Given the description of an element on the screen output the (x, y) to click on. 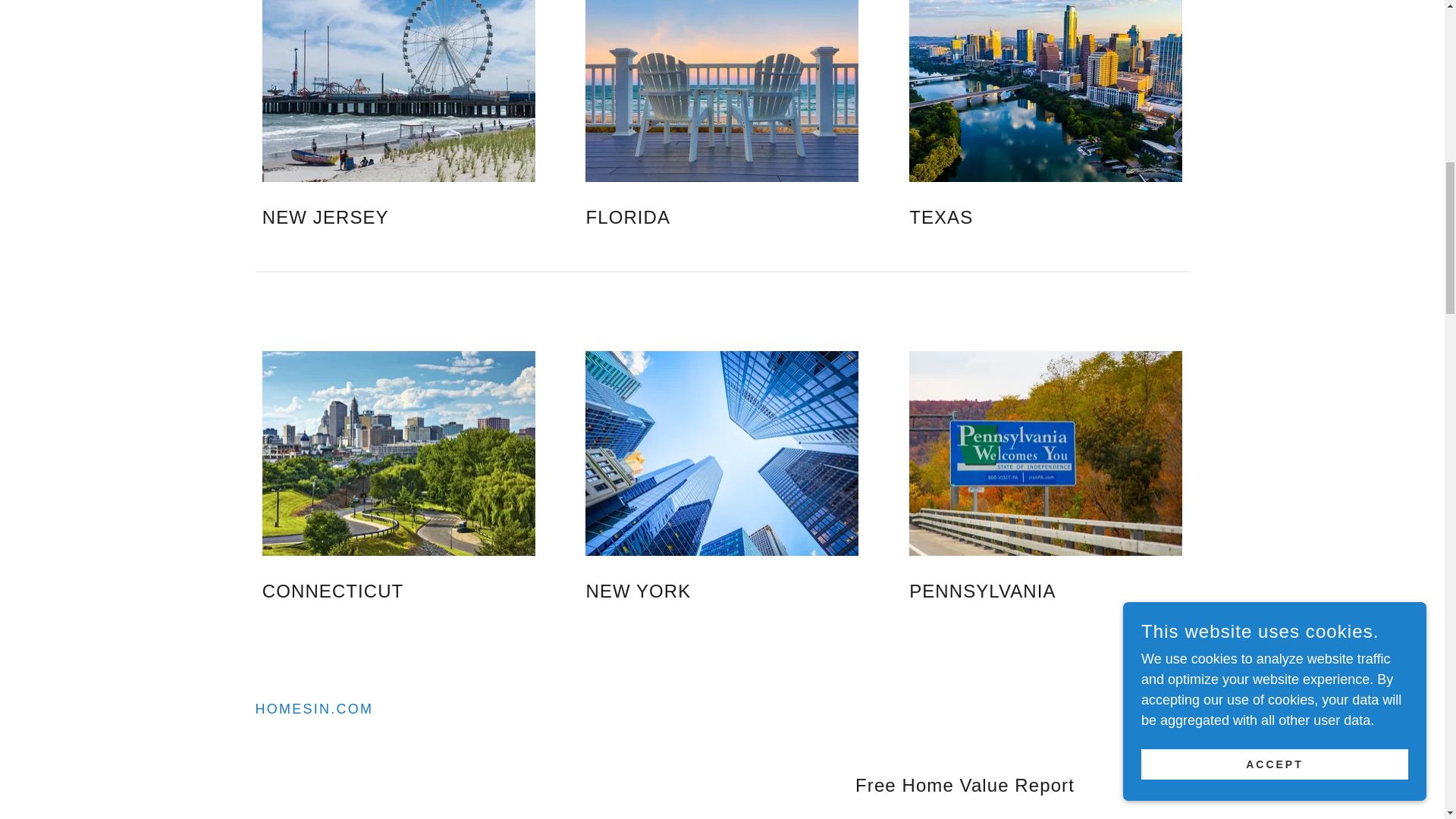
NEW YORK (680, 590)
TEXAS (1004, 217)
NEW JERSEY (357, 217)
PENNSYLVANIA (1004, 590)
CONNECTICUT (357, 590)
FLORIDA (680, 217)
